Given the description of an element on the screen output the (x, y) to click on. 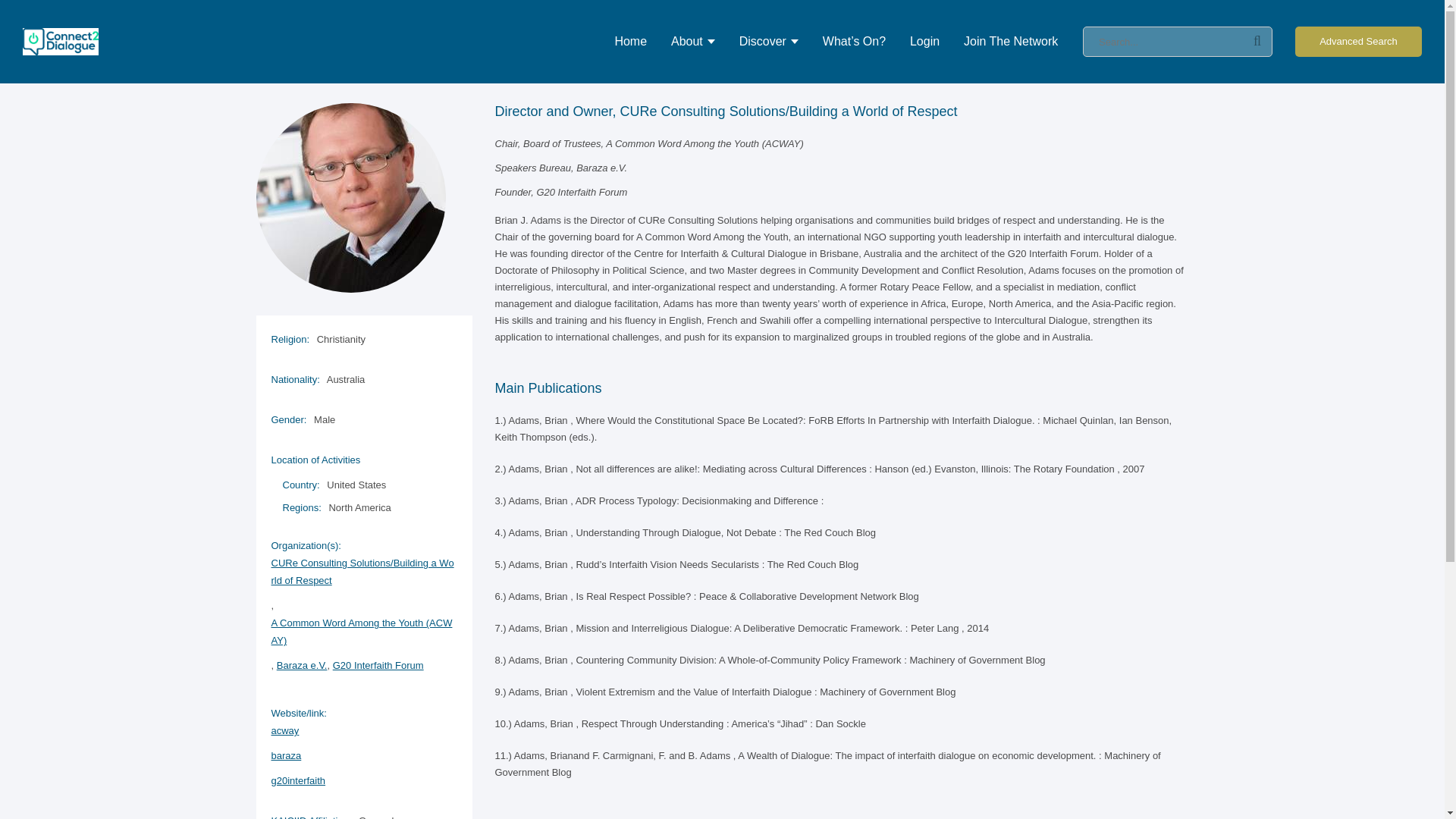
Baraza e.V. (301, 665)
baraza (363, 755)
G20 Interfaith Forum (378, 665)
acway (363, 730)
Advanced Search (1358, 41)
g20interfaith (363, 780)
Discover (769, 41)
Join The Network (1010, 41)
Message (1141, 60)
